Given the description of an element on the screen output the (x, y) to click on. 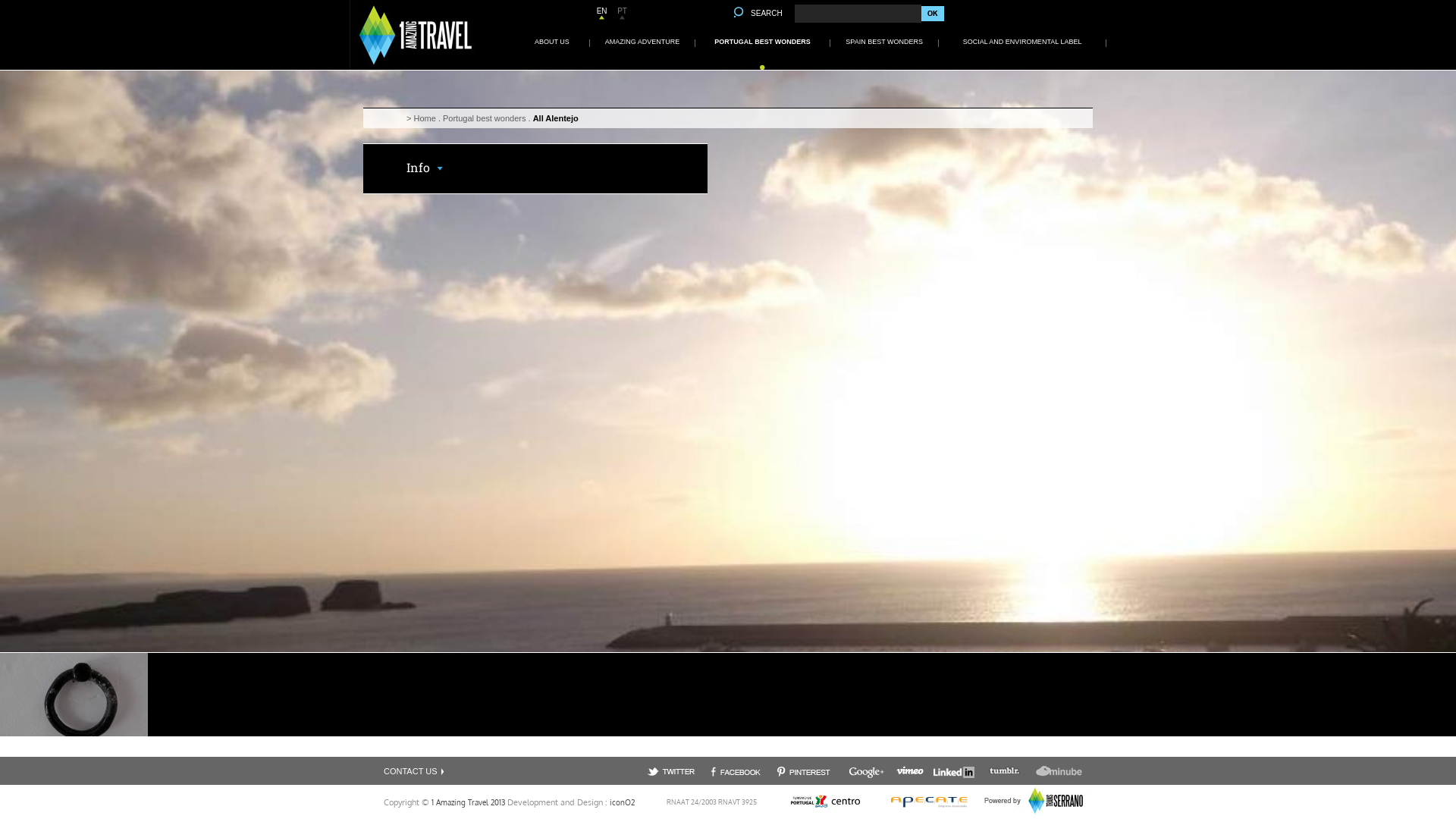
ABOUT US Element type: text (551, 41)
ABOUT US Element type: text (551, 42)
SPAIN BEST WONDERS Element type: text (884, 42)
> Home . Element type: text (424, 117)
SPAIN BEST WONDERS Element type: text (883, 41)
PORTUGAL BEST WONDERS Element type: text (761, 41)
AMAZING ADVENTURE Element type: text (641, 42)
PORTUGAL BEST WONDERS Element type: text (762, 42)
PT Element type: text (622, 10)
AMAZING ADVENTURE Element type: text (642, 41)
SOCIAL AND ENVIROMENTAL LABEL Element type: text (1022, 41)
PT Element type: text (621, 11)
iconO2 Element type: text (621, 801)
Portugal best wonders . Element type: text (487, 117)
CONTACT US Element type: text (410, 770)
SOCIAL AND ENVIROMENTAL LABEL Element type: text (1022, 42)
